Given the description of an element on the screen output the (x, y) to click on. 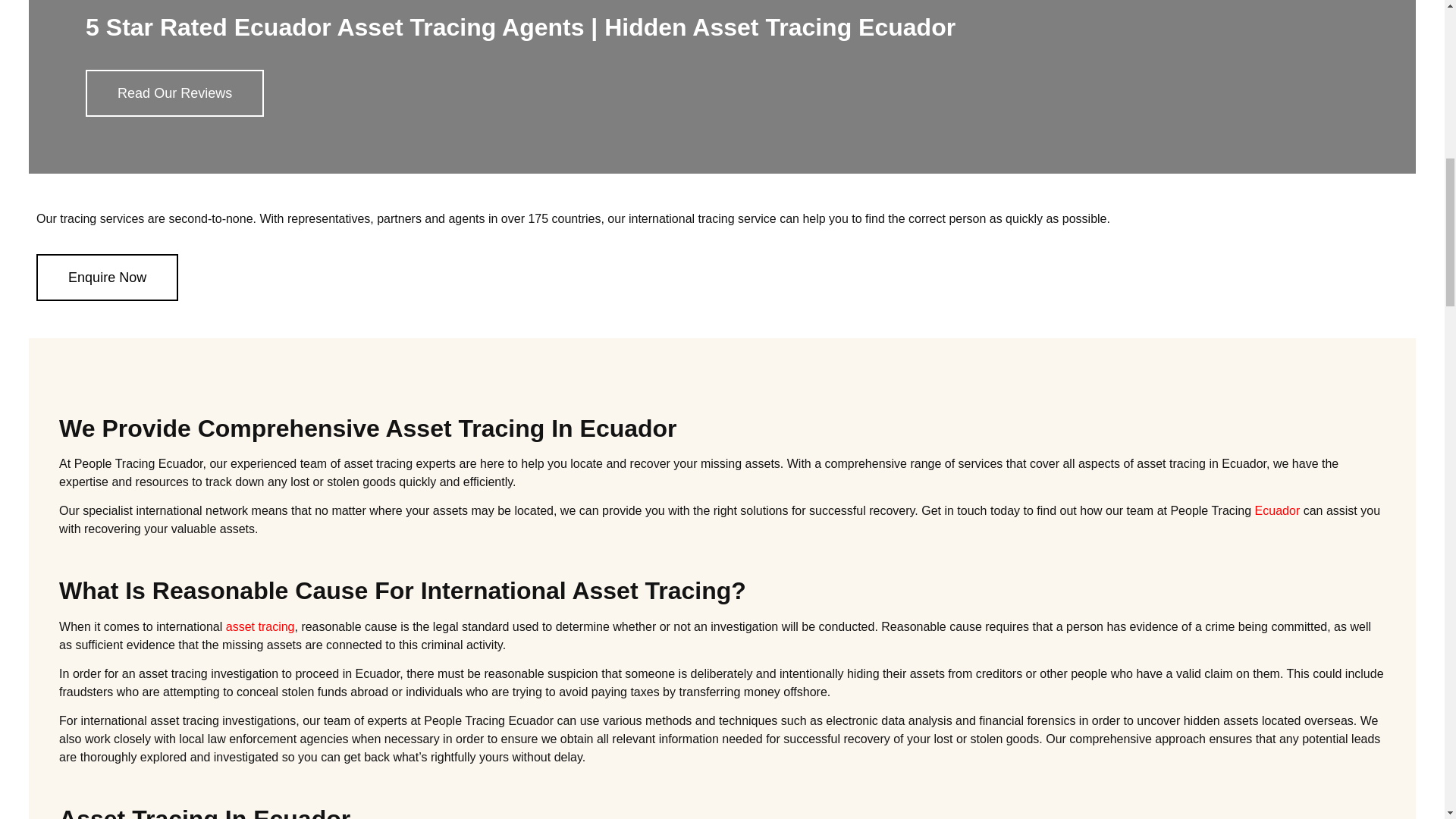
Enquire Now (106, 277)
Ecuador (1277, 510)
Ecuador (1277, 510)
asset tracing (260, 626)
asset tracing (260, 626)
Read Our Reviews (174, 93)
